Given the description of an element on the screen output the (x, y) to click on. 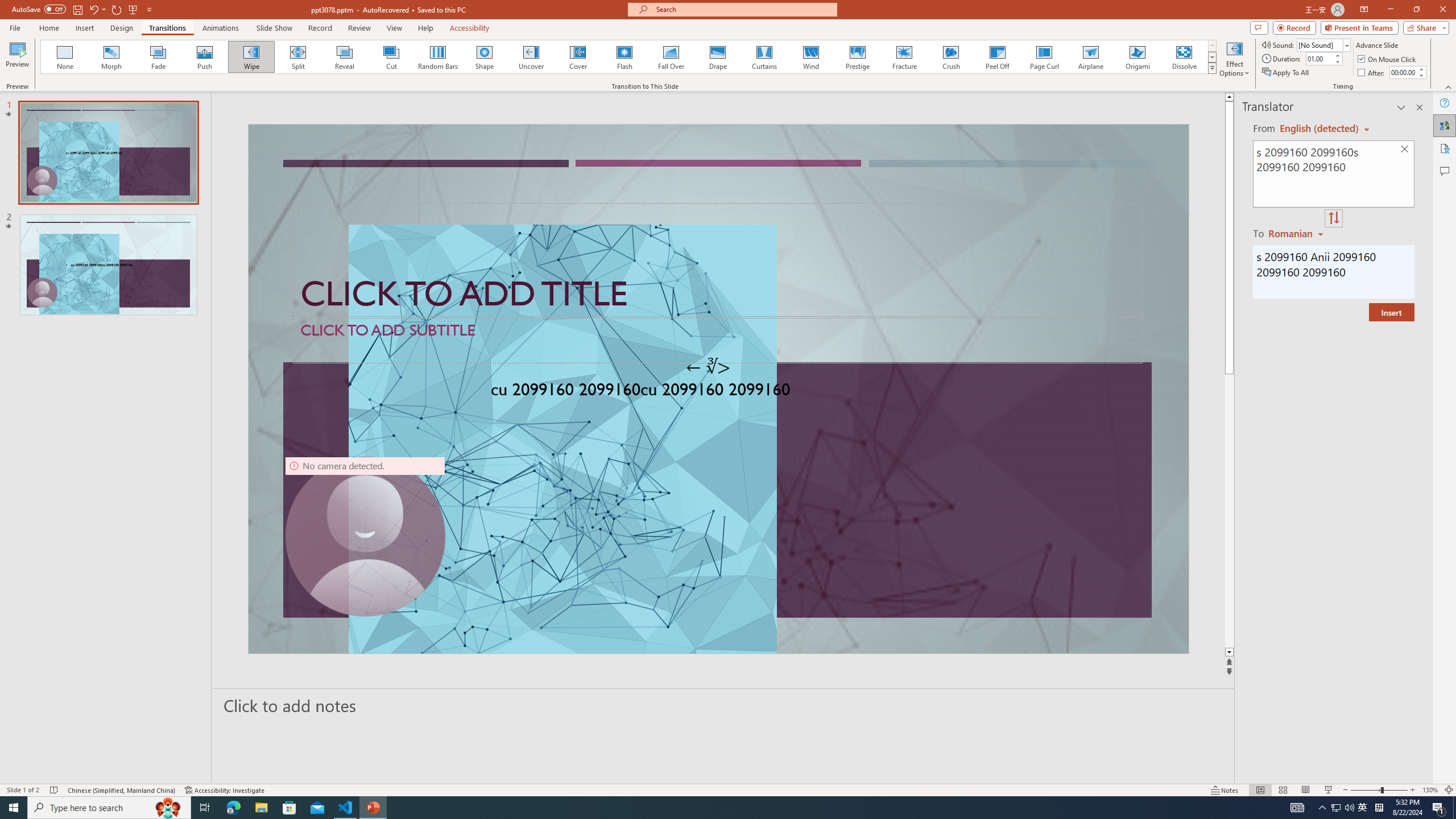
Prestige (857, 56)
Crush (950, 56)
Line down (1229, 652)
Flash (624, 56)
Notes  (1225, 790)
Cover (577, 56)
Czech (1296, 232)
Peel Off (997, 56)
Page Curl (1043, 56)
Sound (1324, 44)
